Given the description of an element on the screen output the (x, y) to click on. 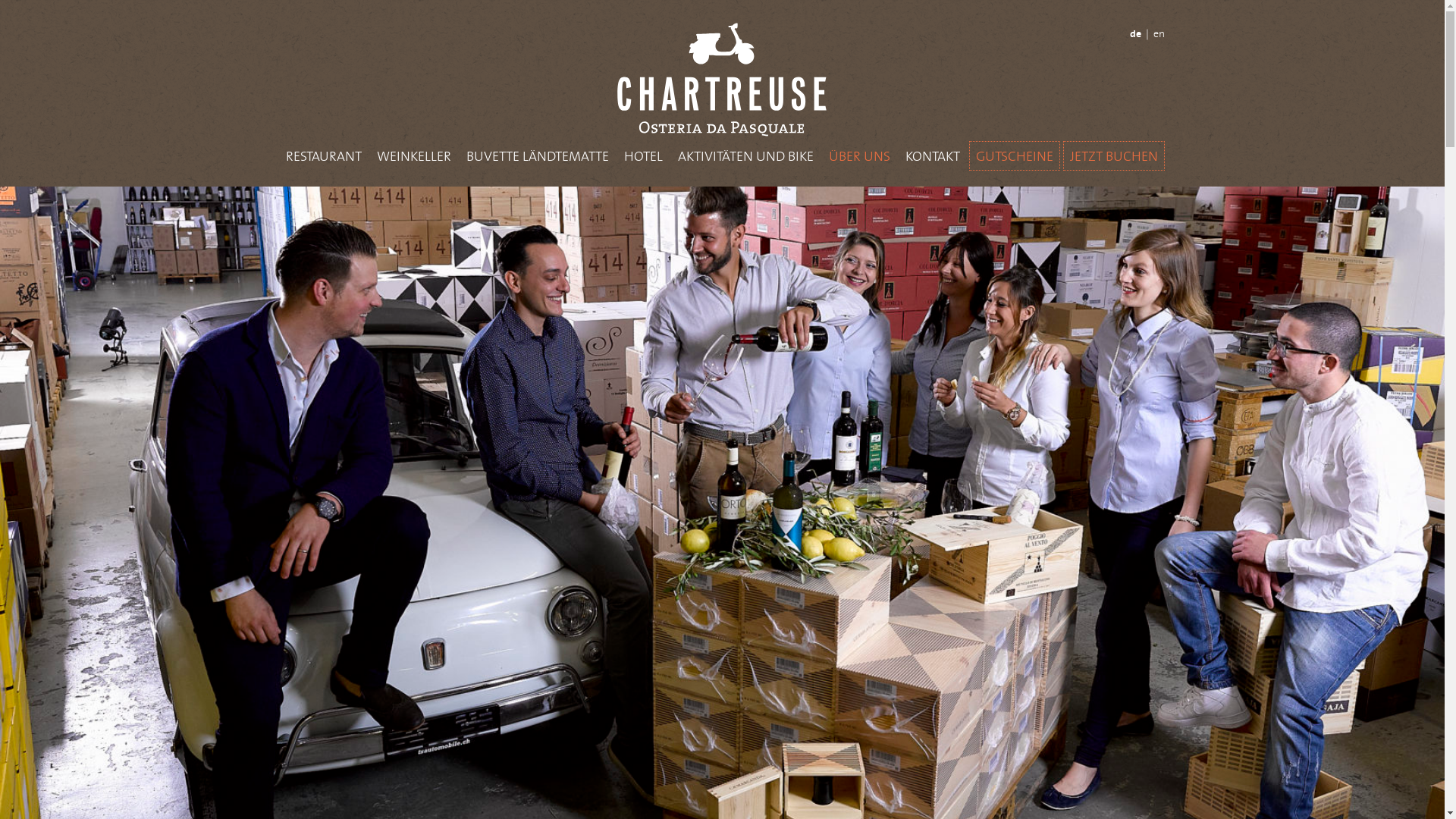
RESTAURANT Element type: text (323, 155)
en Element type: text (1158, 32)
GUTSCHEINE Element type: text (1014, 155)
HOTEL Element type: text (643, 155)
KONTAKT Element type: text (932, 155)
WEINKELLER Element type: text (413, 155)
JETZT BUCHEN Element type: text (1113, 155)
